Given the description of an element on the screen output the (x, y) to click on. 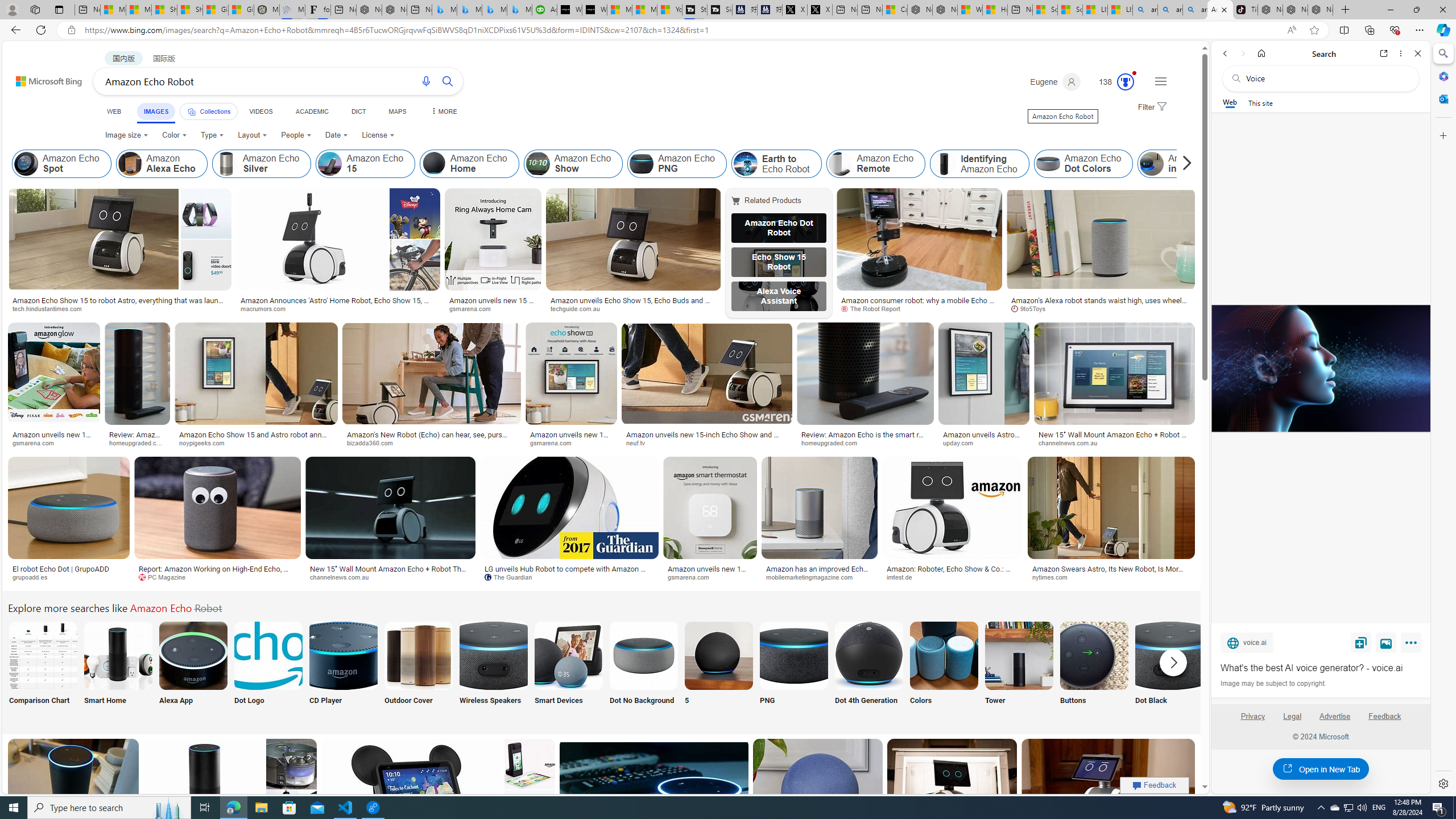
Amazon Echo Dot Photo No Background (644, 654)
Date (336, 135)
techguide.com.au (633, 308)
Alexa App (192, 669)
MAPS (397, 111)
Gilma and Hector both pose tropical trouble for Hawaii (241, 9)
amazon - Search Images (1194, 9)
Amazon Echo Home (469, 163)
